Given the description of an element on the screen output the (x, y) to click on. 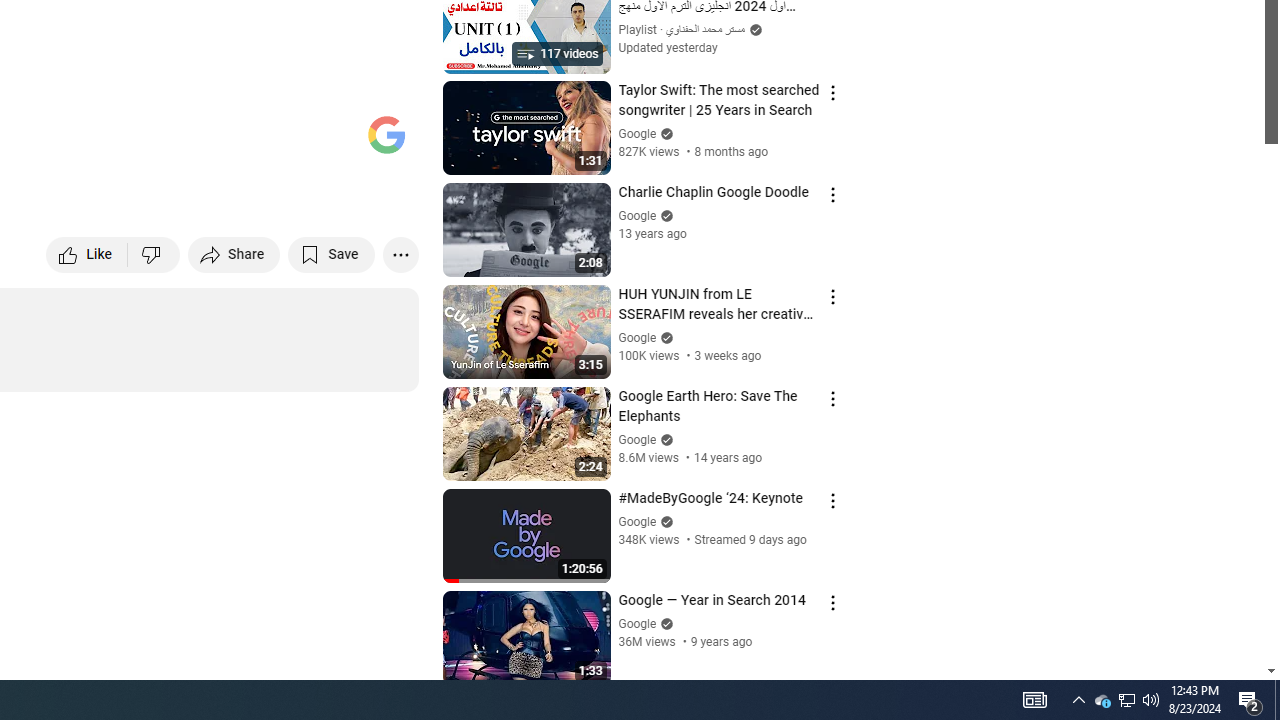
Like (87, 254)
Verified (664, 623)
Channel watermark (386, 134)
Action menu (832, 602)
